Given the description of an element on the screen output the (x, y) to click on. 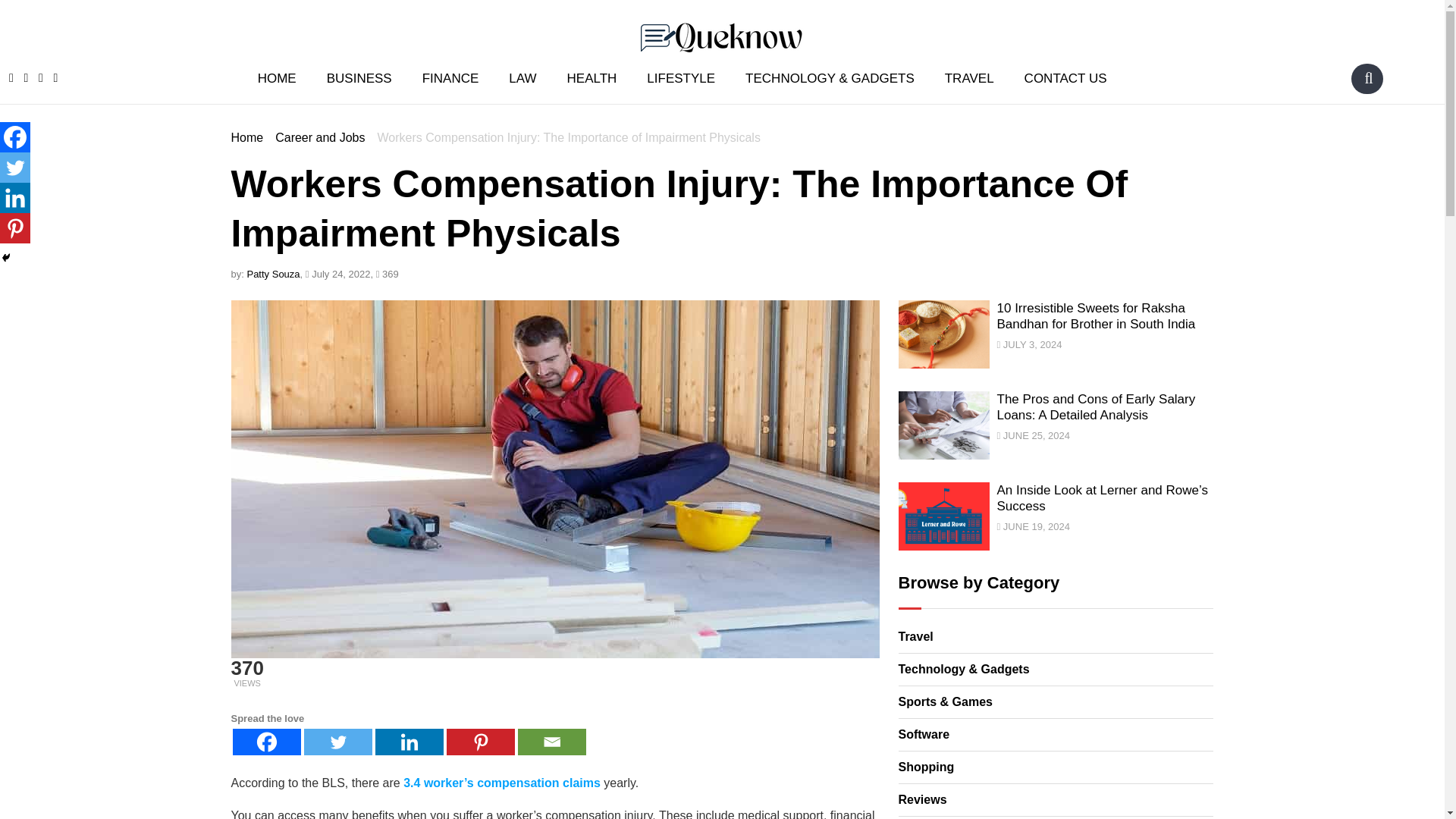
Twitter (336, 741)
Linkedin (15, 197)
HEALTH (591, 77)
Linkedin (408, 741)
Facebook (15, 137)
Pinterest (15, 227)
Career and Jobs (320, 137)
FINANCE (451, 77)
Pinterest (479, 741)
Search (1368, 77)
BUSINESS (359, 77)
Email (550, 741)
369 (386, 274)
HOME (277, 77)
Hide (5, 257)
